Given the description of an element on the screen output the (x, y) to click on. 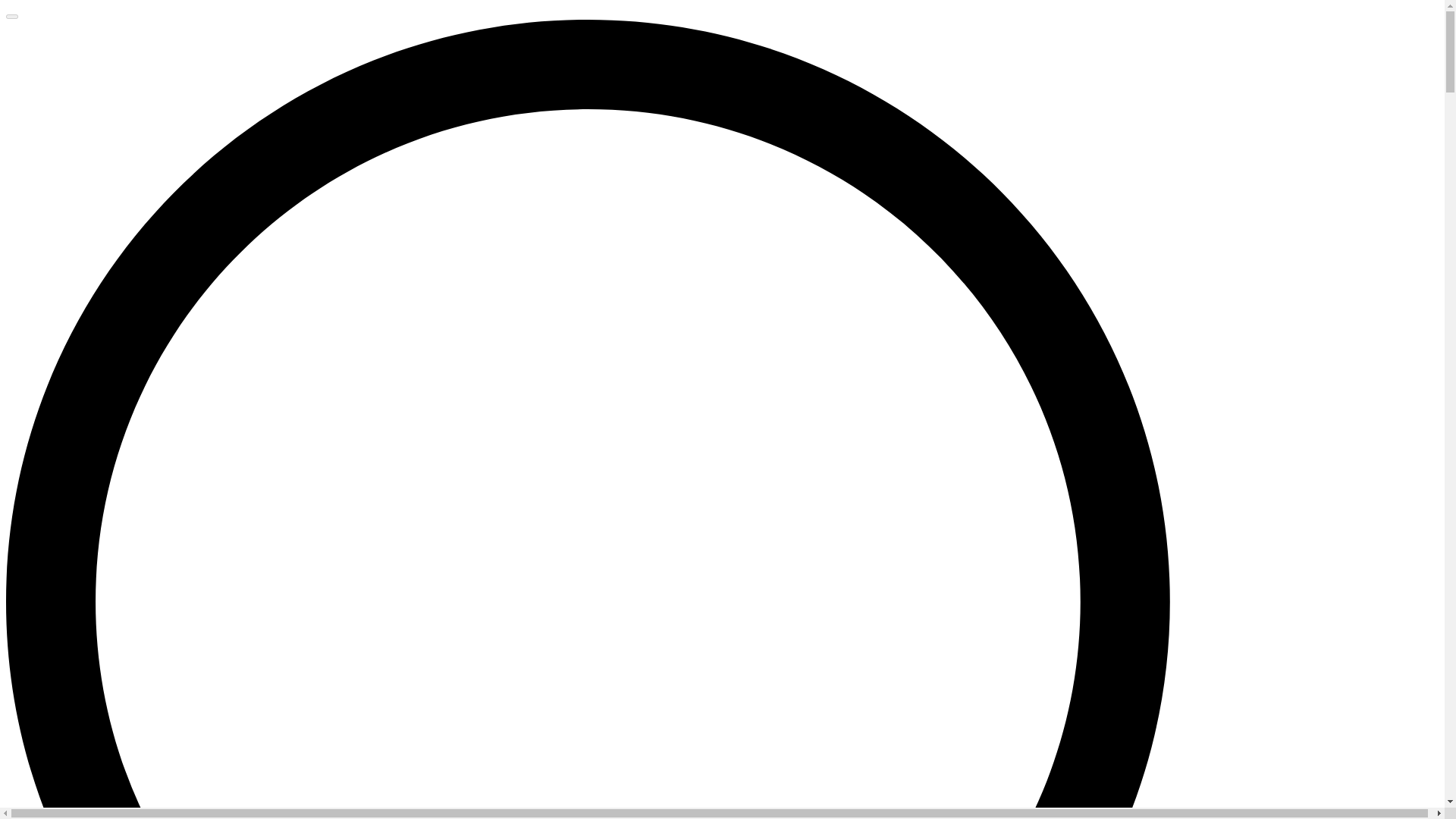
Toggle navigation (11, 16)
